Given the description of an element on the screen output the (x, y) to click on. 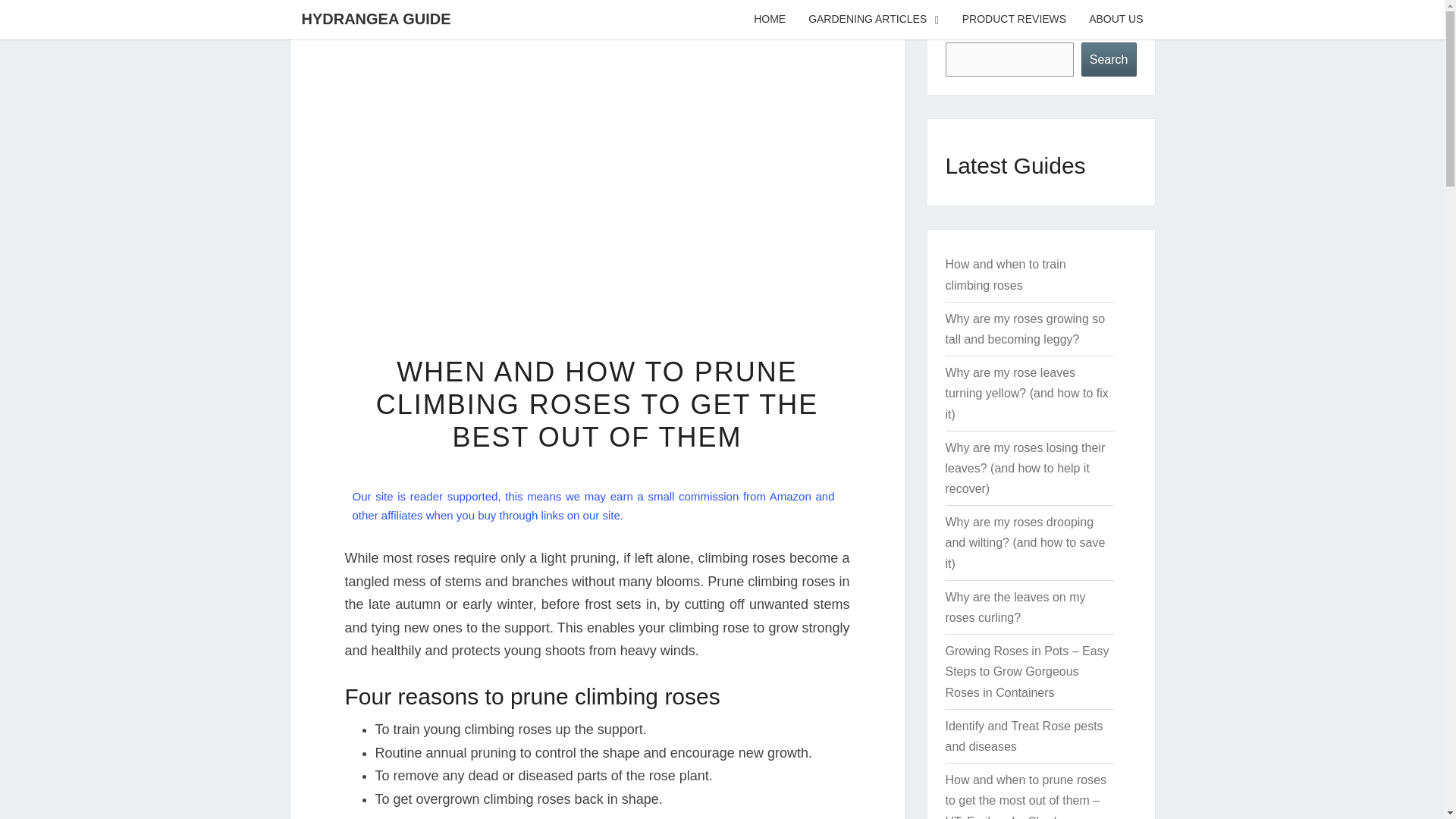
Identify and Treat Rose pests and diseases (1023, 735)
ABOUT US (1115, 19)
Search (1109, 59)
HYDRANGEA GUIDE (375, 18)
Why are my roses growing so tall and becoming leggy? (1024, 328)
GARDENING ARTICLES (873, 19)
PRODUCT REVIEWS (1013, 19)
HOME (769, 19)
How and when to train climbing roses (1004, 274)
Why are the leaves on my roses curling? (1014, 607)
